Given the description of an element on the screen output the (x, y) to click on. 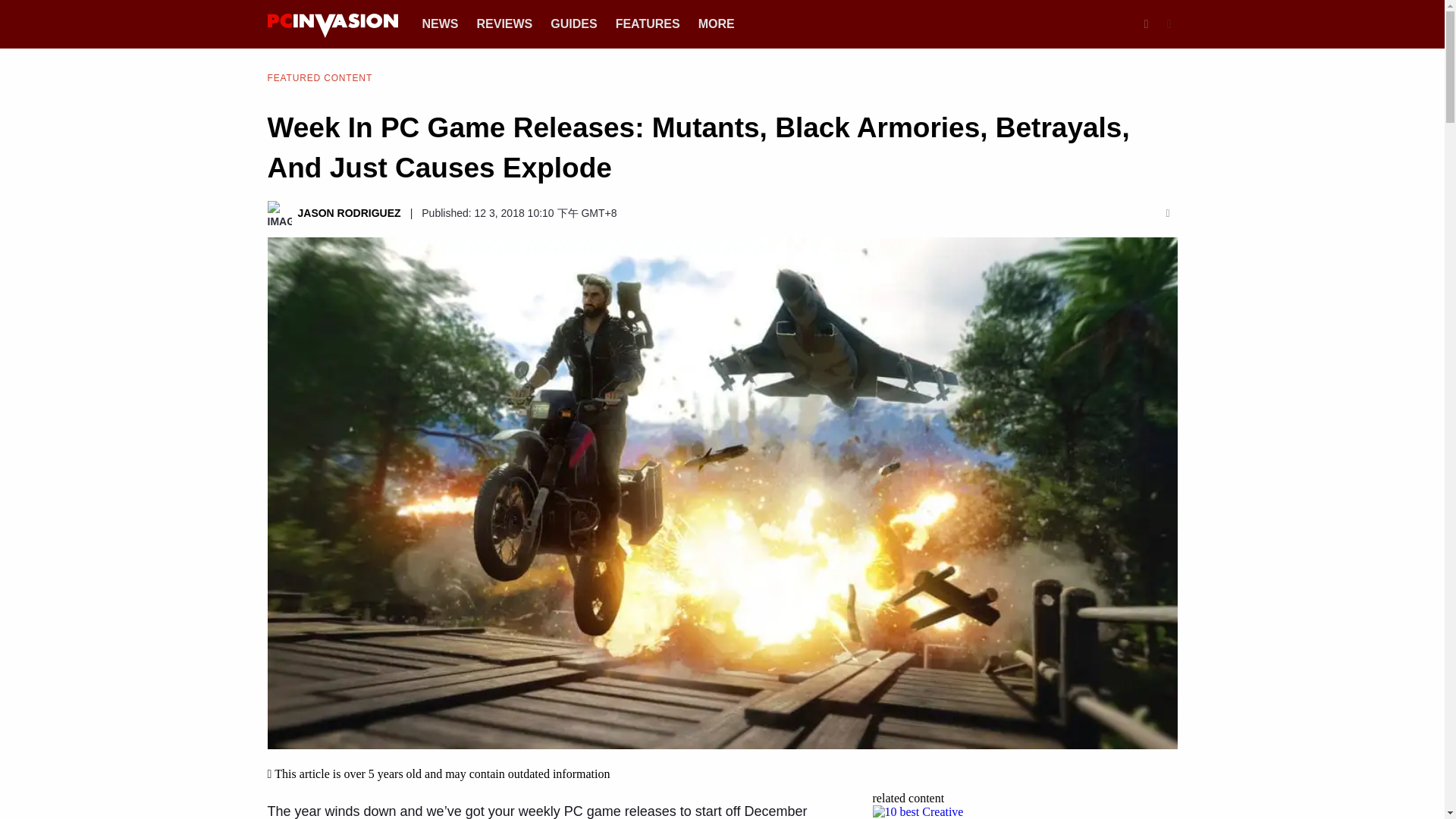
FEATURED CONTENT (319, 77)
NEWS (440, 23)
REVIEWS (504, 23)
GUIDES (573, 23)
FEATURES (647, 23)
